Given the description of an element on the screen output the (x, y) to click on. 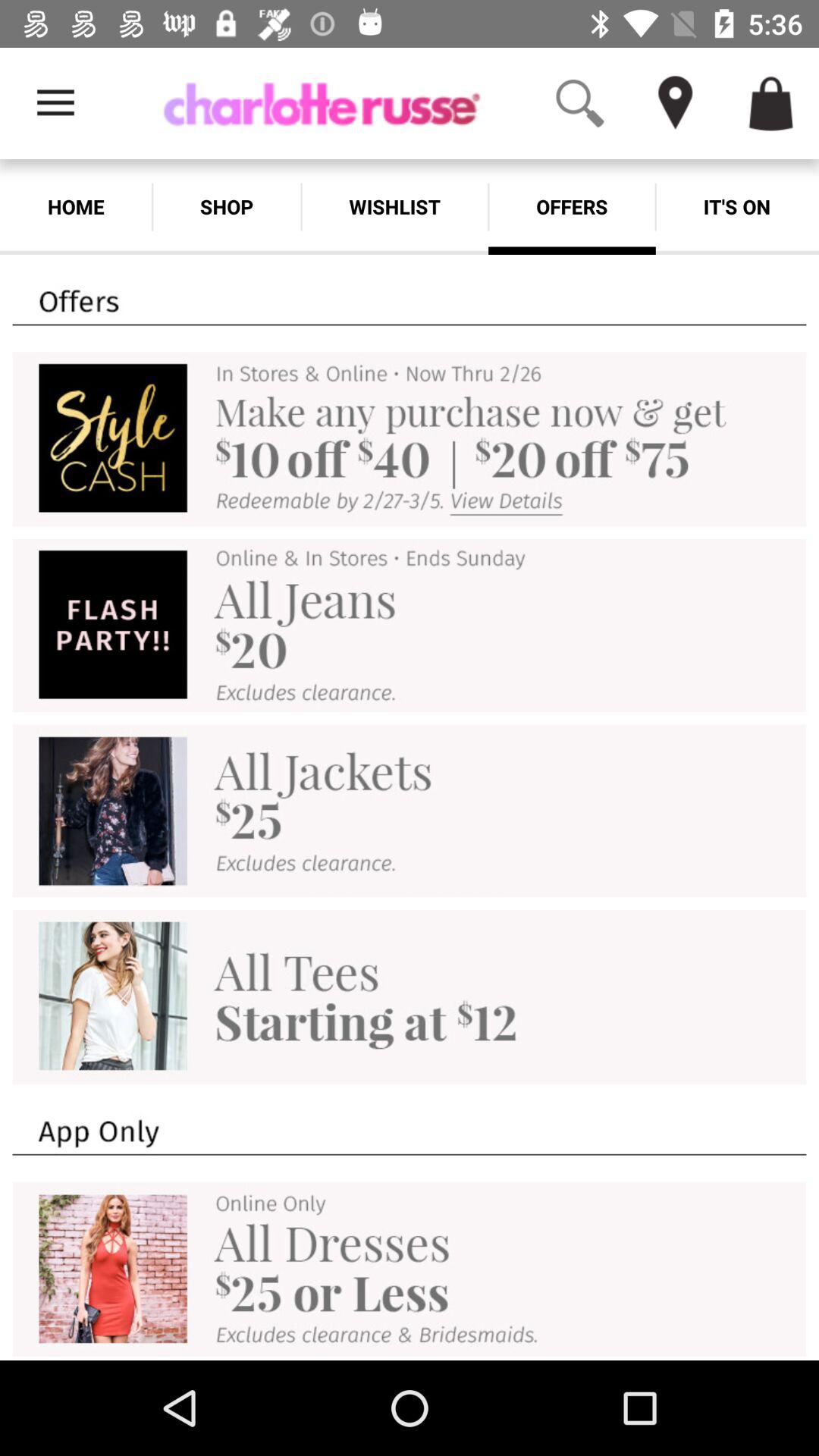
open the item next to wishlist (571, 206)
